Given the description of an element on the screen output the (x, y) to click on. 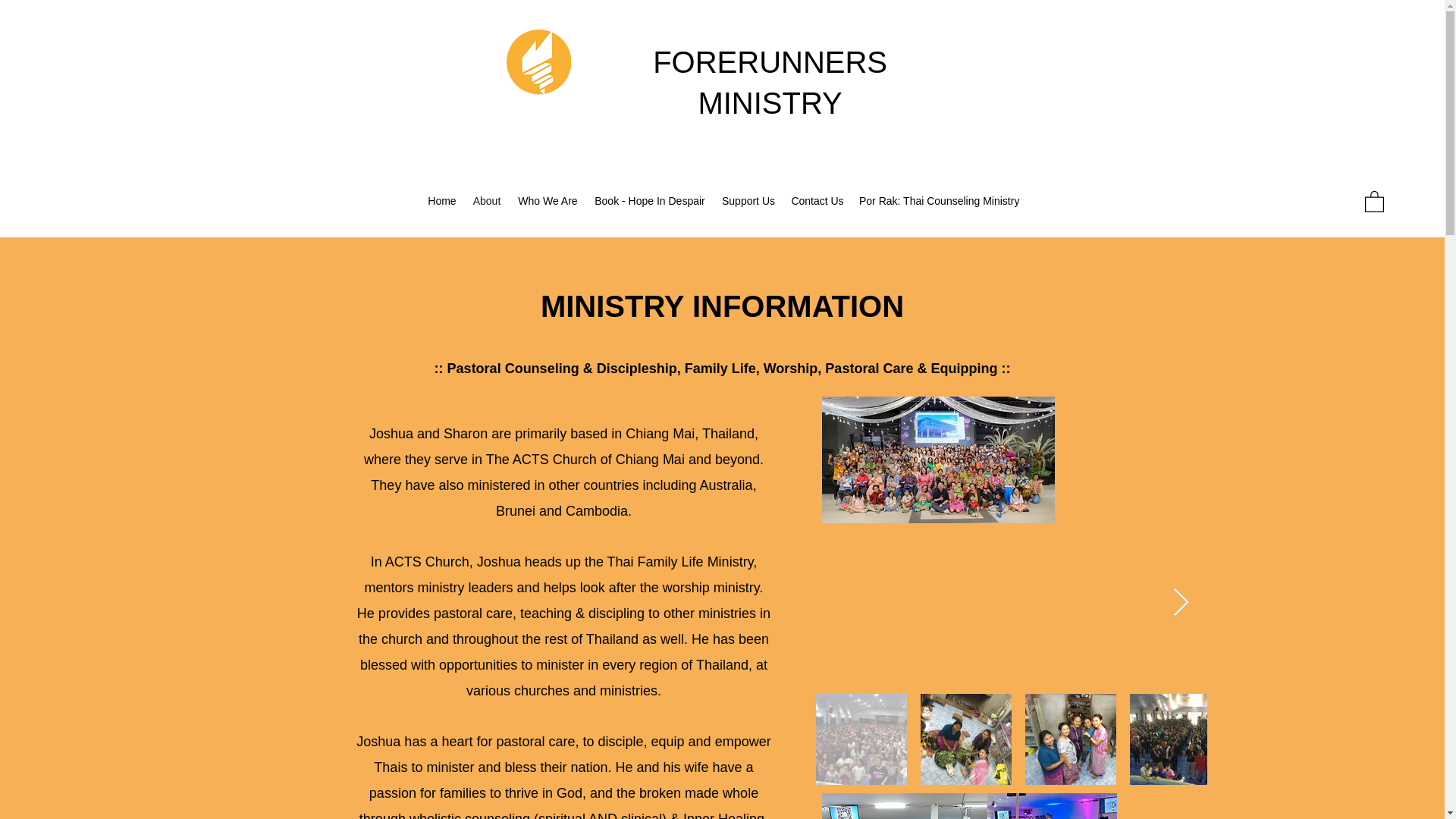
Contact Us (817, 200)
Home (442, 200)
Support Us (748, 200)
FORERUNNERS MINISTRY (769, 82)
Who We Are (547, 200)
Book - Hope In Despair (649, 200)
Por Rak: Thai Counseling Ministry (938, 200)
About (486, 200)
